Given the description of an element on the screen output the (x, y) to click on. 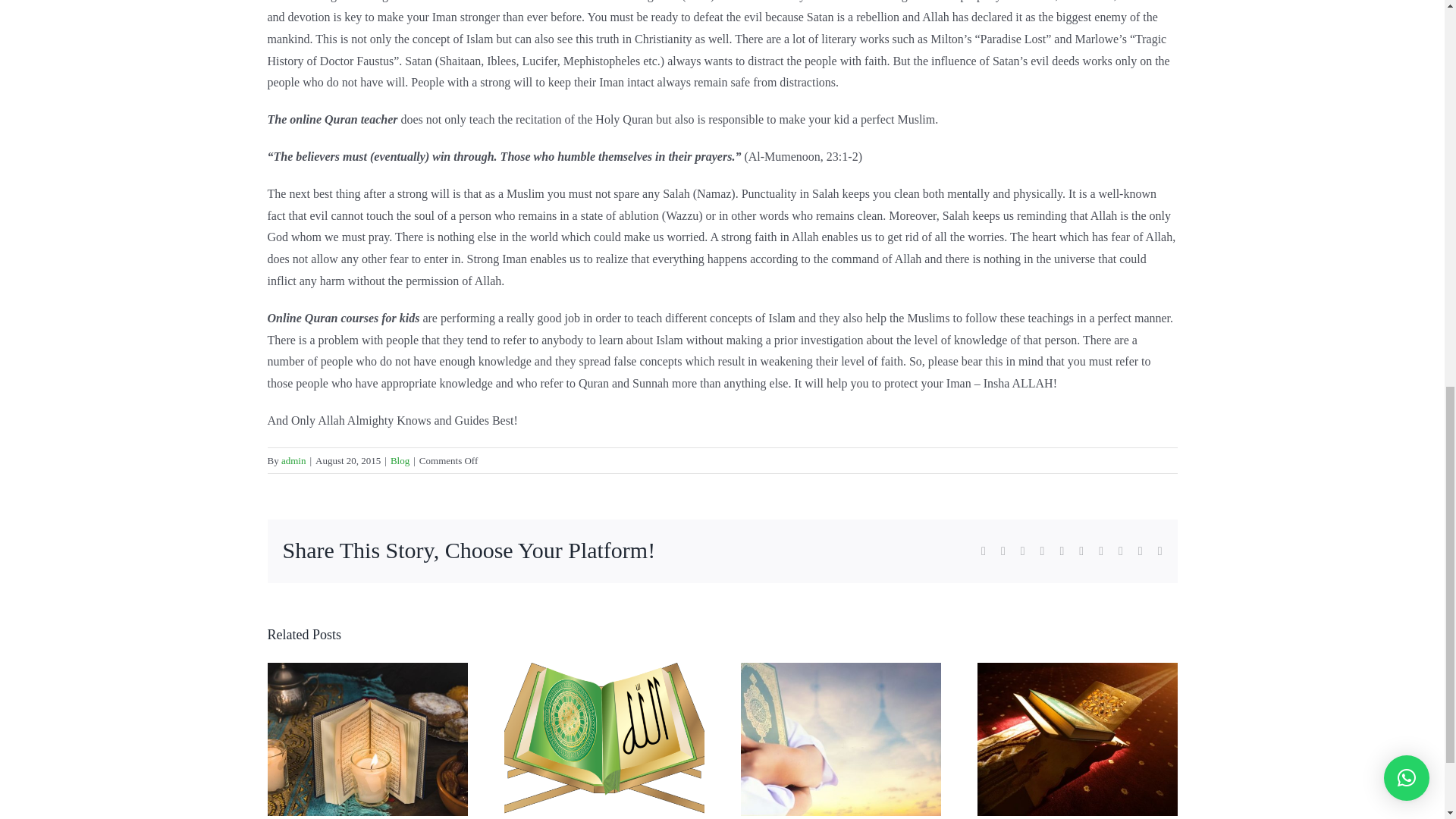
admin (293, 460)
Blog (399, 460)
Posts by admin (293, 460)
